Given the description of an element on the screen output the (x, y) to click on. 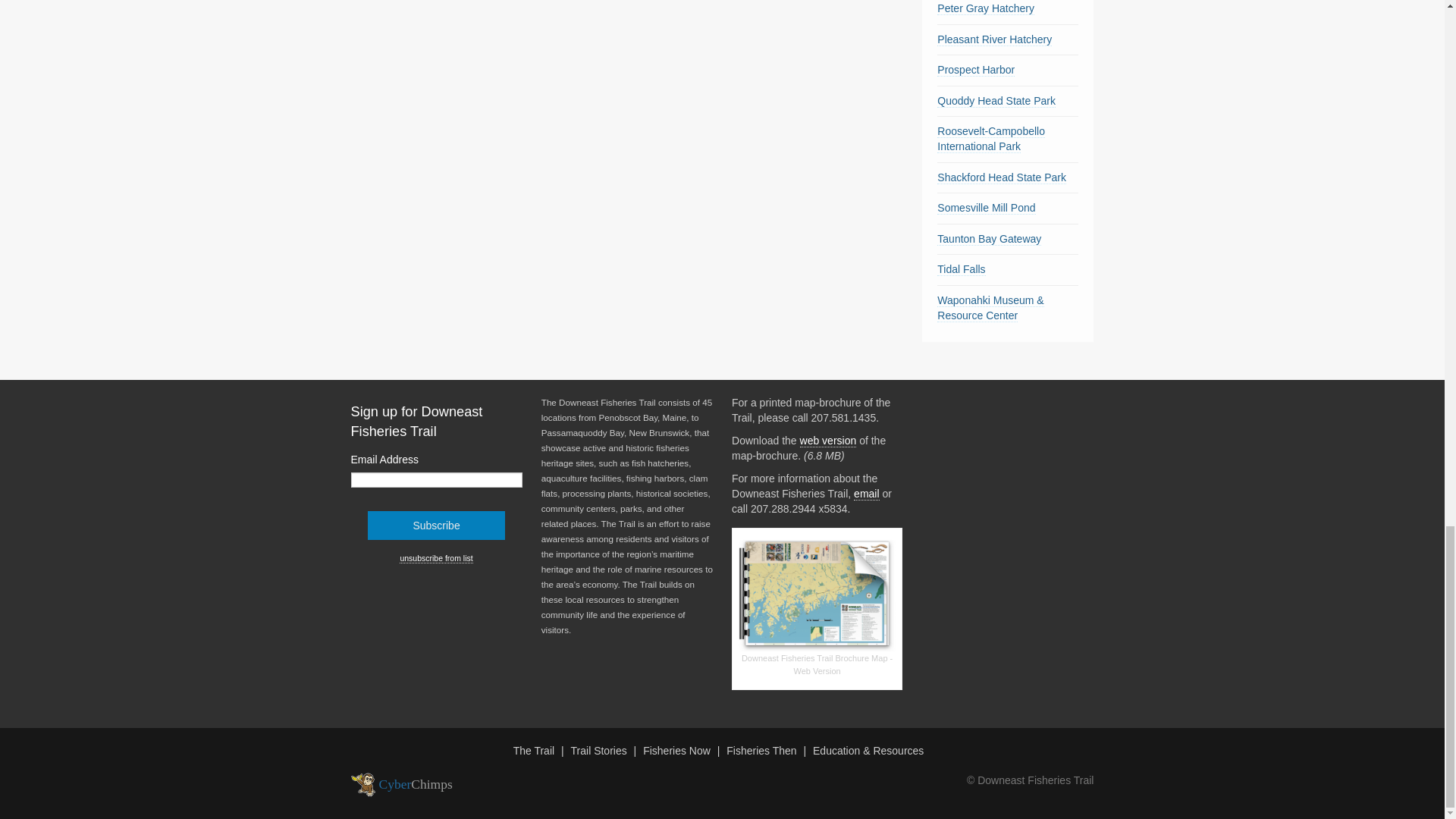
Downeast Fisheries Trail Map Brochure - Web Version (828, 440)
Downeast Fisheries Trail Brochure Map - Web Version (816, 595)
Subscribe (436, 525)
Resources (869, 750)
